Given the description of an element on the screen output the (x, y) to click on. 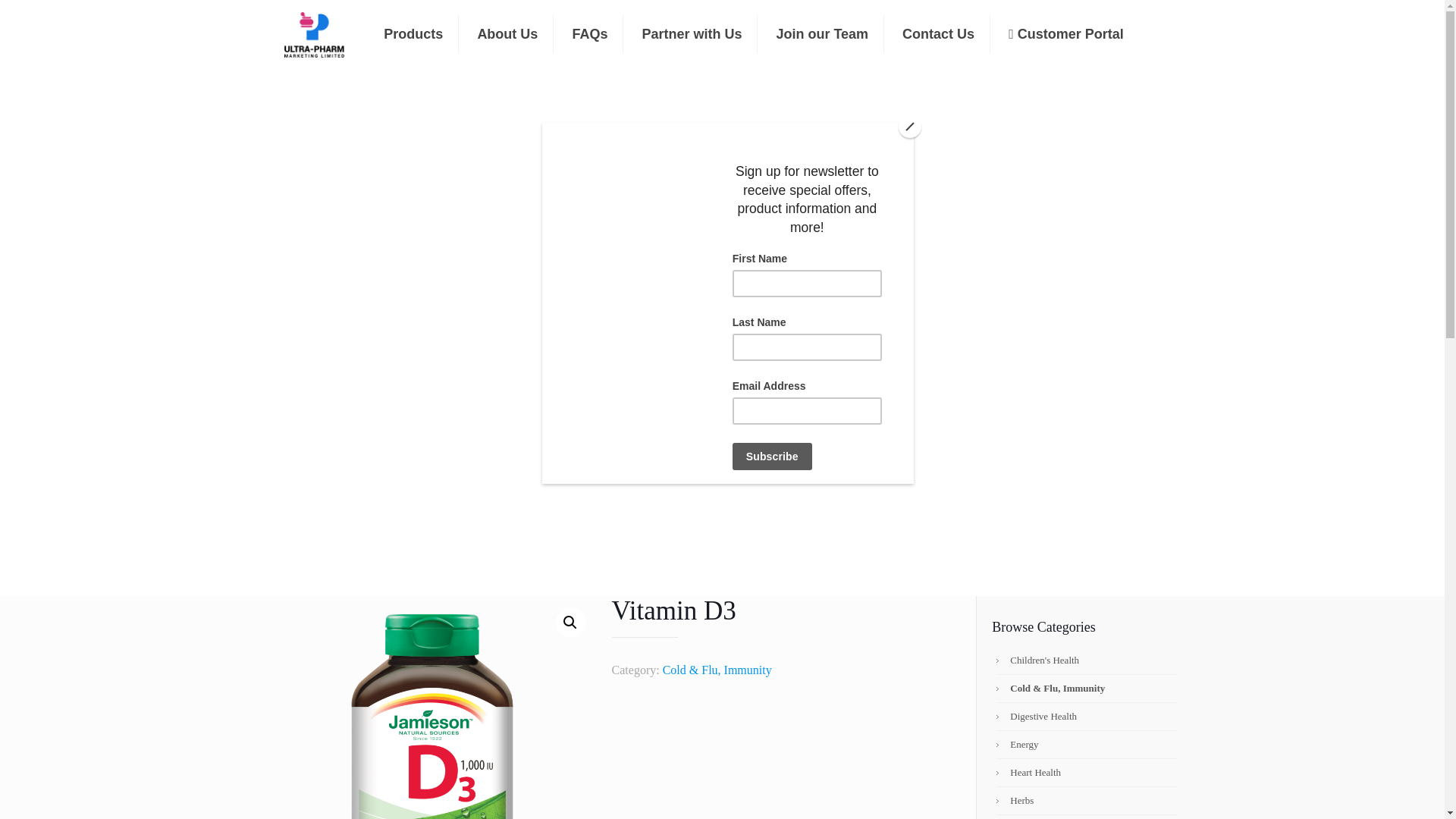
About Us (507, 34)
Digestive Health (1091, 716)
Join our Team (821, 34)
Contact Us (938, 34)
Heart Health (1091, 772)
Vitamin-D (432, 707)
Herbs (1091, 800)
Products (413, 34)
Ultra Pharm Marketing Limited (314, 33)
Joint Health (1091, 816)
Children'S Health (1091, 660)
Customer Portal (1065, 34)
Energy (1091, 744)
Partner with Us (691, 34)
FAQs (589, 34)
